Given the description of an element on the screen output the (x, y) to click on. 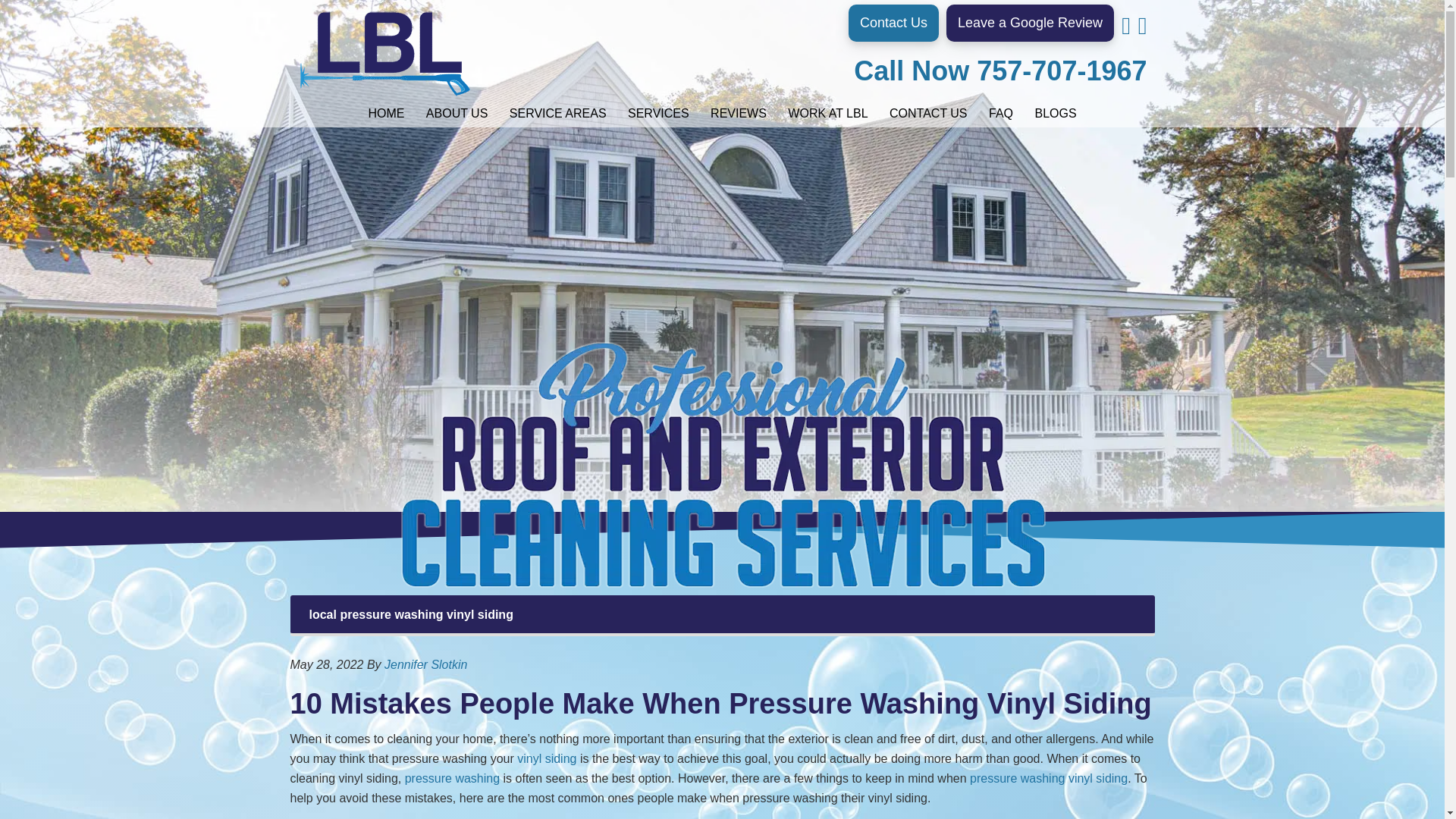
HOME (385, 113)
LBL Softwash (384, 53)
Leave a Google Review (1029, 22)
SERVICE AREAS (557, 113)
SERVICES (658, 113)
Call Now 757-707-1967 (1000, 70)
ABOUT US (456, 113)
Contact Us (893, 22)
